Given the description of an element on the screen output the (x, y) to click on. 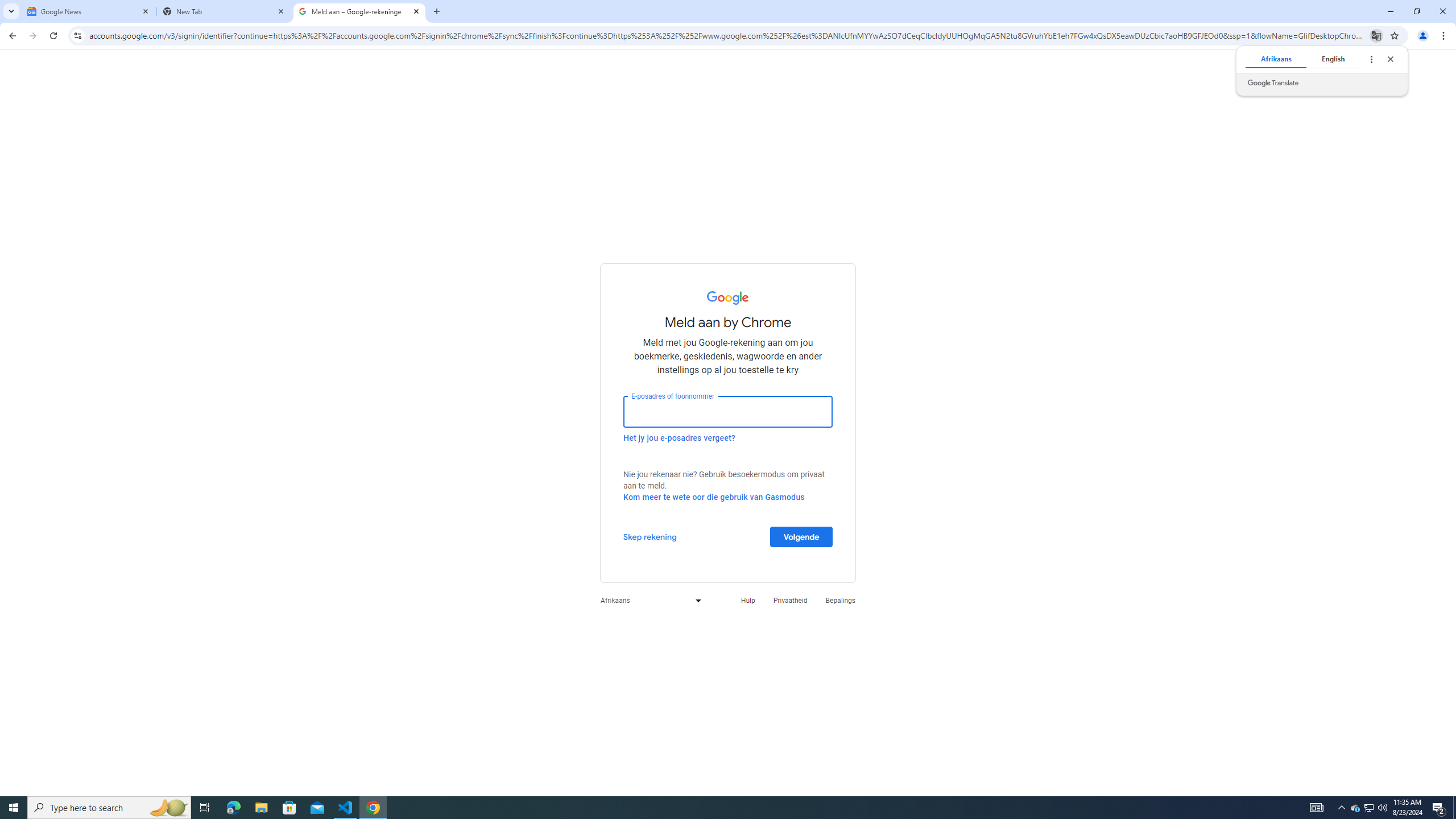
Hulp (747, 600)
Afrikaans (1275, 58)
Translate this page (1376, 35)
Kom meer te wete oor die gebruik van Gasmodus (713, 497)
New Tab (224, 11)
Google News (88, 11)
Translate options (1370, 58)
Afrikaans (647, 600)
Het jy jou e-posadres vergeet? (678, 437)
